Given the description of an element on the screen output the (x, y) to click on. 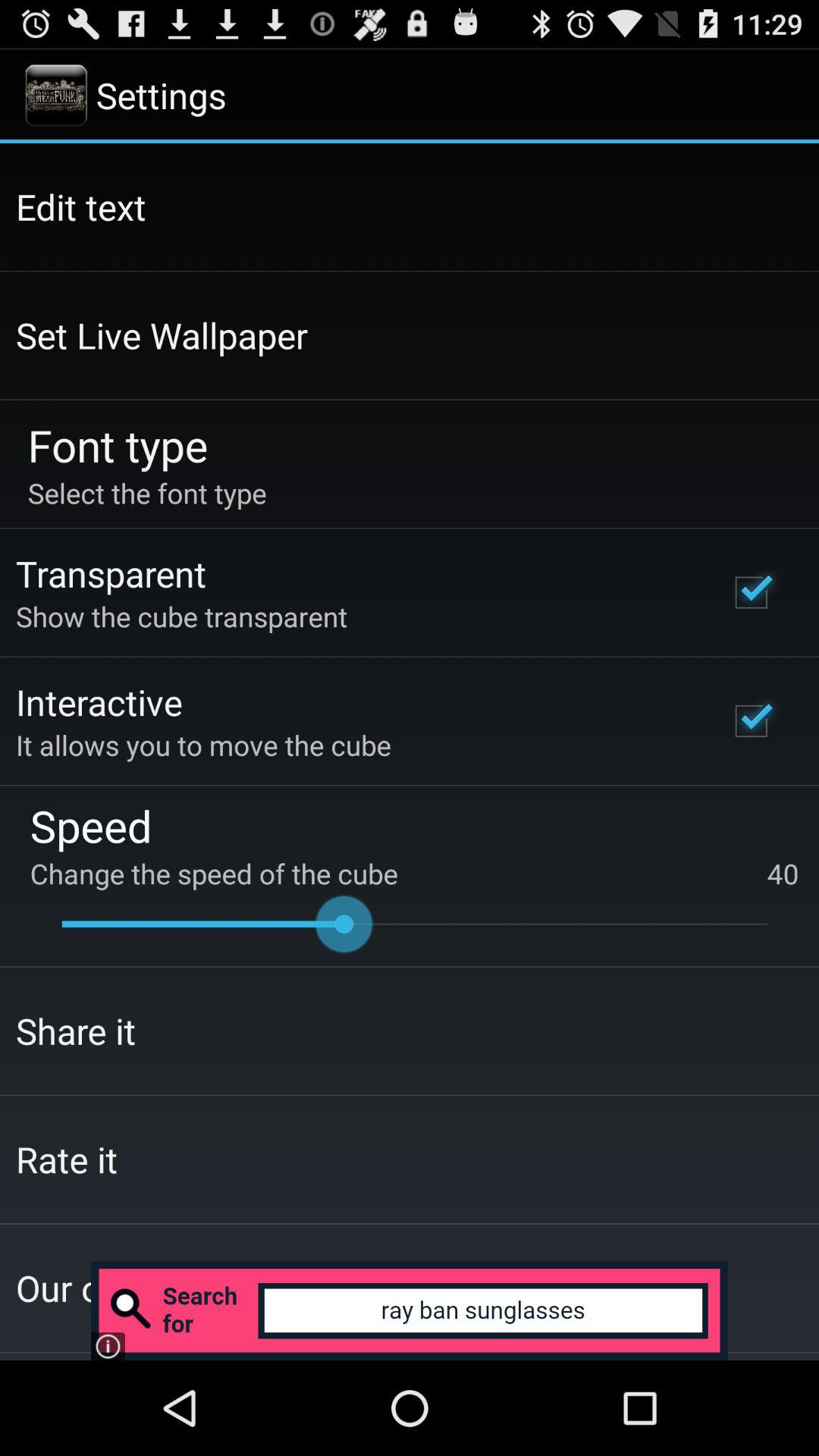
tap the icon below speed item (783, 873)
